Given the description of an element on the screen output the (x, y) to click on. 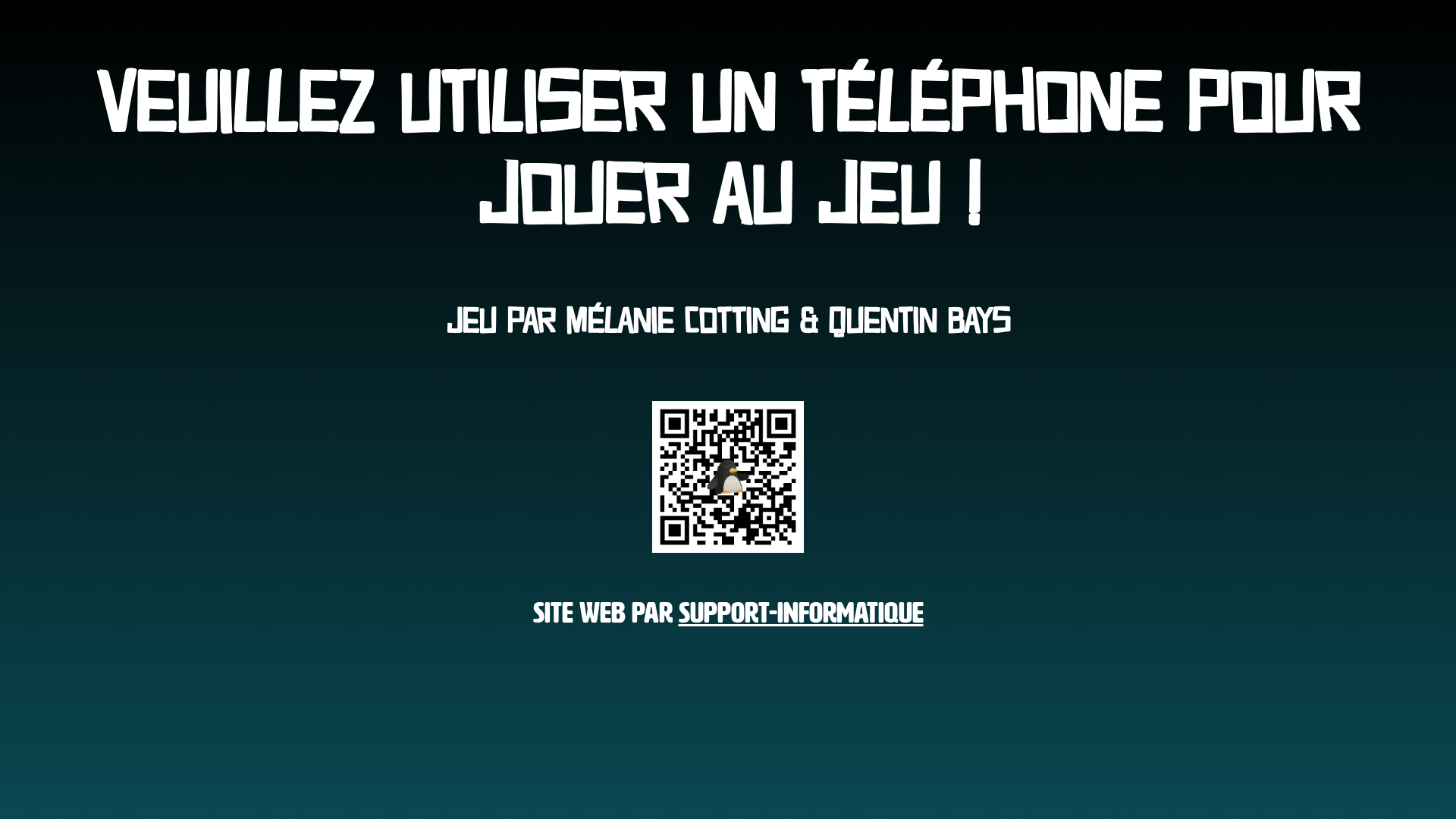
Support-Informatique Element type: text (799, 607)
